Given the description of an element on the screen output the (x, y) to click on. 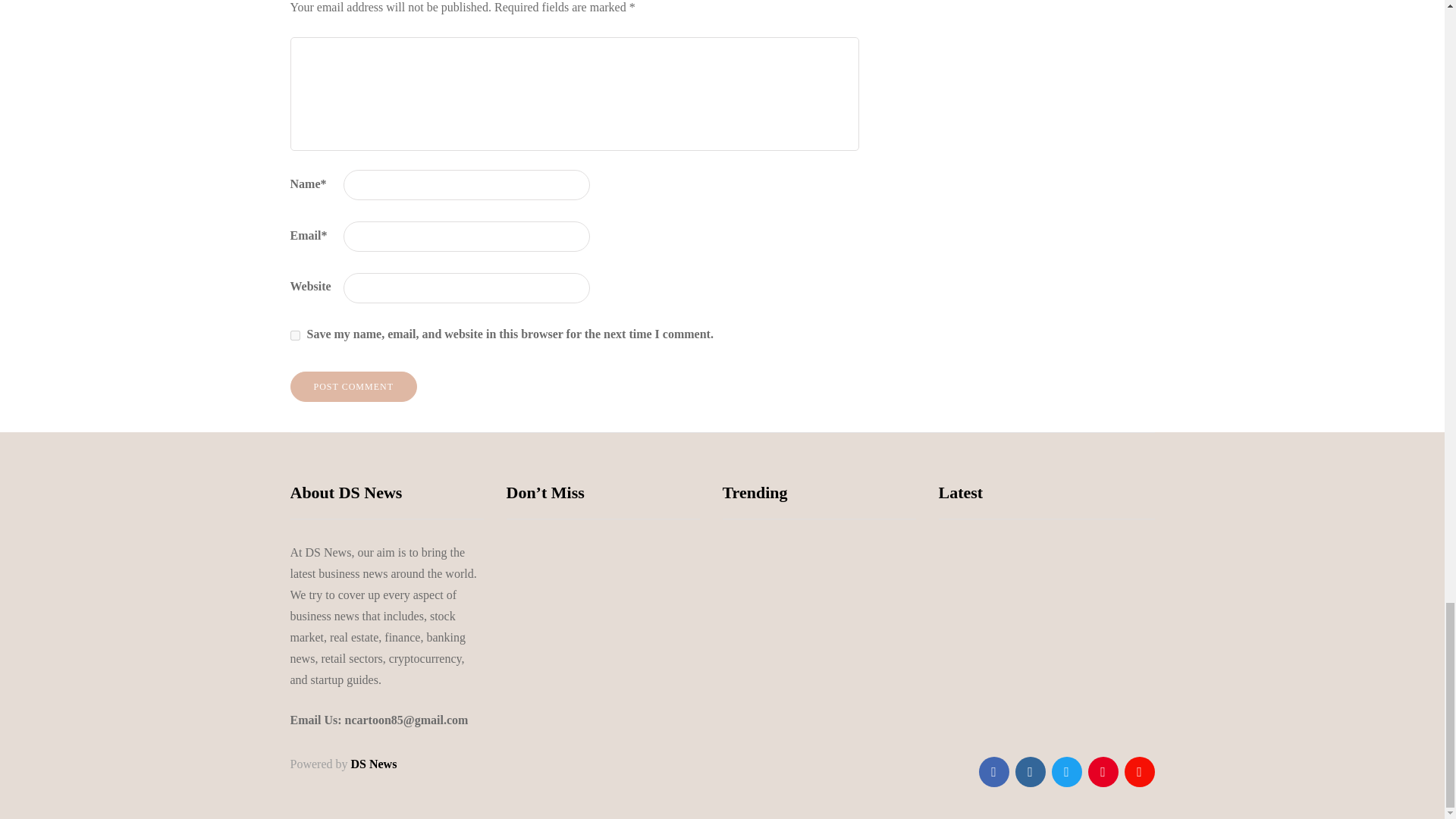
Post comment (352, 386)
yes (294, 335)
